Given the description of an element on the screen output the (x, y) to click on. 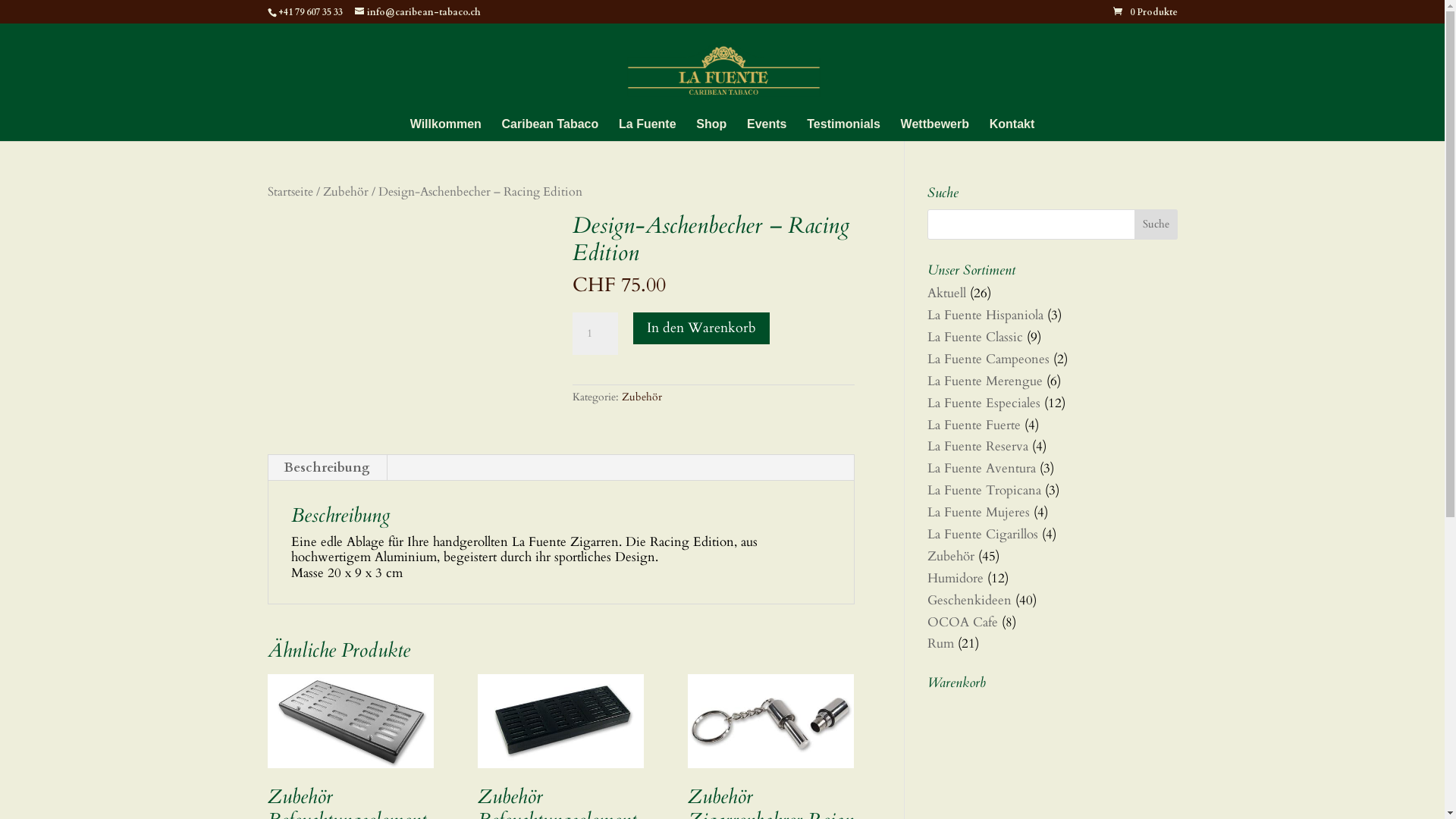
La Fuente Tropicana Element type: text (983, 489)
La Fuente Aventura Element type: text (980, 467)
Kontakt Element type: text (1012, 130)
La Fuente Cigarillos Element type: text (981, 533)
Testimonials Element type: text (843, 130)
La Fuente Element type: text (647, 130)
La Fuente Classic Element type: text (974, 336)
La Fuente Mujeres Element type: text (977, 511)
Events Element type: text (766, 130)
Wettbewerb Element type: text (934, 130)
La Fuente Reserva Element type: text (976, 446)
La Fuente Campeones Element type: text (987, 358)
La Fuente Especiales Element type: text (982, 402)
Geschenkideen Element type: text (968, 599)
Caribean Tabaco Element type: text (550, 130)
Startseite Element type: text (289, 192)
Rum Element type: text (939, 643)
In den Warenkorb Element type: text (701, 327)
info@caribean-tabaco.ch Element type: text (417, 12)
Aktuell Element type: text (945, 292)
0 Produkte Element type: text (1145, 12)
OCOA Cafe Element type: text (961, 621)
La Fuente Hispaniola Element type: text (984, 314)
Beschreibung Element type: text (326, 467)
Shop Element type: text (711, 130)
La Fuente Merengue Element type: text (983, 380)
Willkommen Element type: text (445, 130)
La Fuente Fuerte Element type: text (972, 424)
Suche Element type: text (1155, 224)
Humidore Element type: text (954, 577)
